Given the description of an element on the screen output the (x, y) to click on. 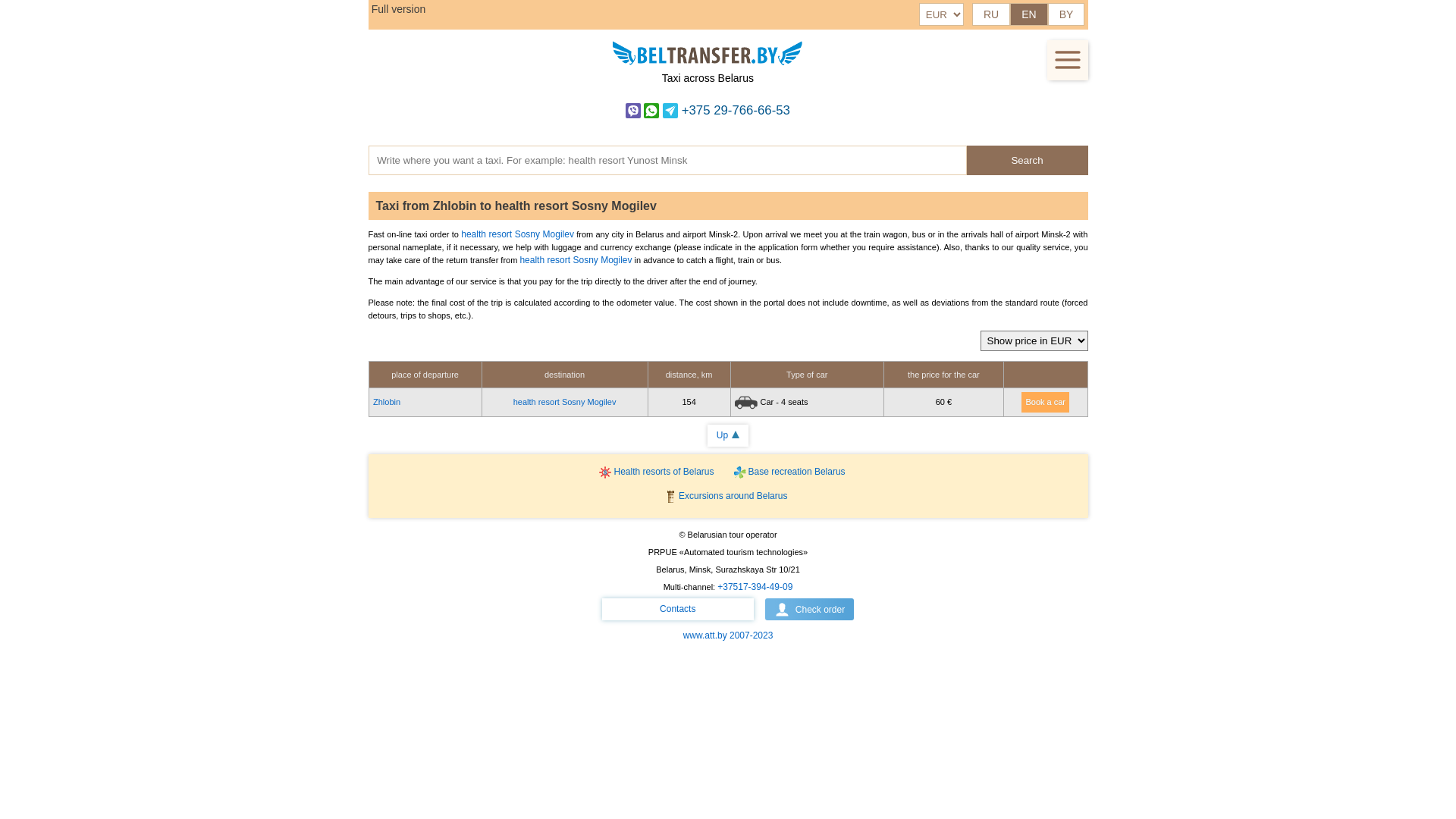
+375 29-766-66-53 Element type: text (707, 111)
Base recreation Belarus Element type: text (792, 471)
www.att.by 2007-2023 Element type: text (728, 635)
health resort Sosny Mogilev Element type: text (564, 401)
Check order Element type: text (809, 609)
health resort Sosny Mogilev Element type: text (517, 234)
Search Element type: text (1026, 159)
+37517-394-49-09 Element type: text (754, 586)
Excursions around Belarus Element type: text (727, 495)
BY Element type: text (1066, 14)
Up Element type: text (727, 435)
Full version Element type: text (398, 9)
health resort Sosny Mogilev Element type: text (575, 259)
Book a car Element type: text (1045, 402)
Zhlobin Element type: text (386, 401)
Contacts Element type: text (677, 609)
Health resorts of Belarus Element type: text (662, 471)
RU Element type: text (990, 14)
EN Element type: text (1028, 14)
